Given the description of an element on the screen output the (x, y) to click on. 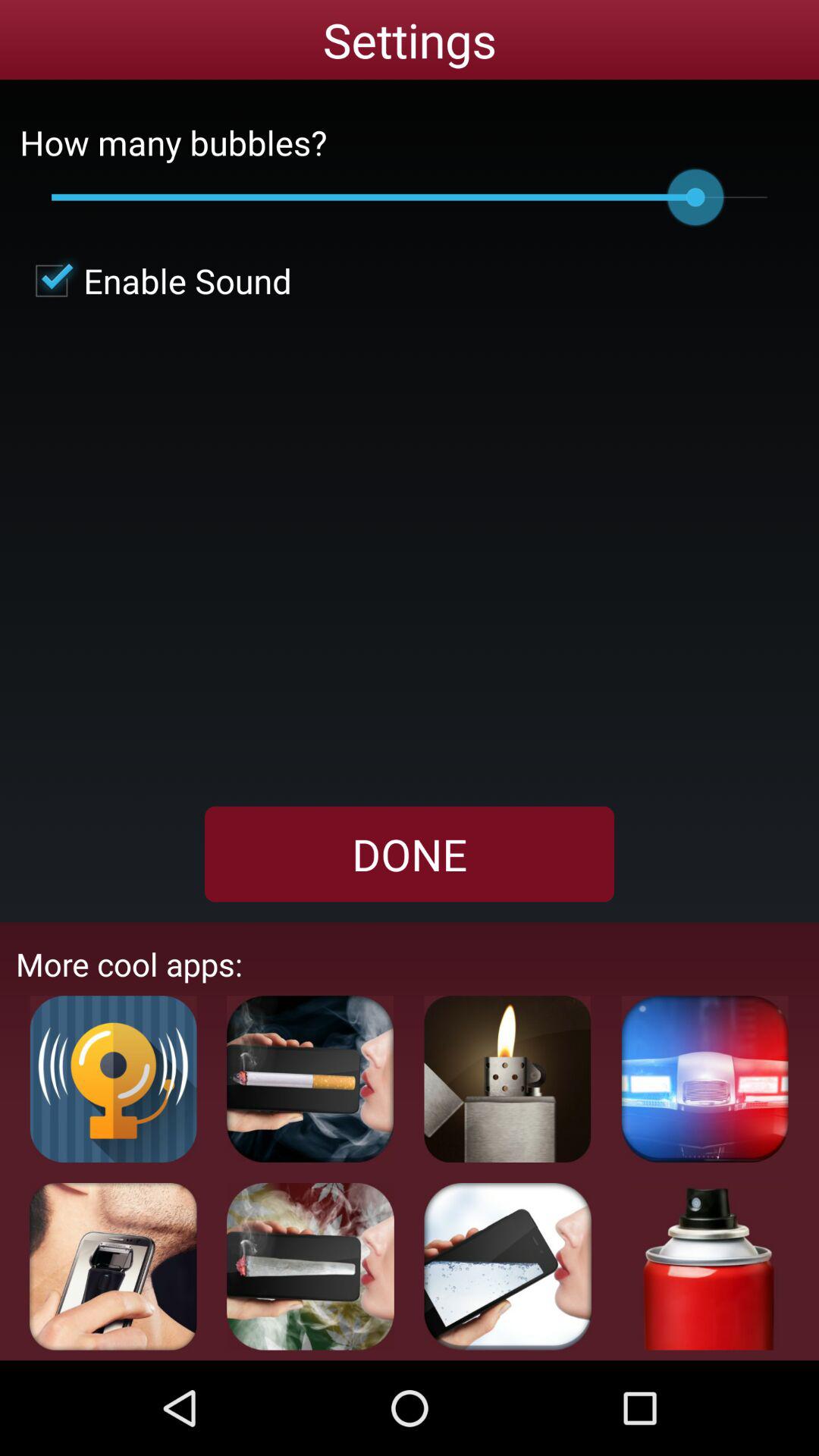
jump to the done item (409, 854)
